Given the description of an element on the screen output the (x, y) to click on. 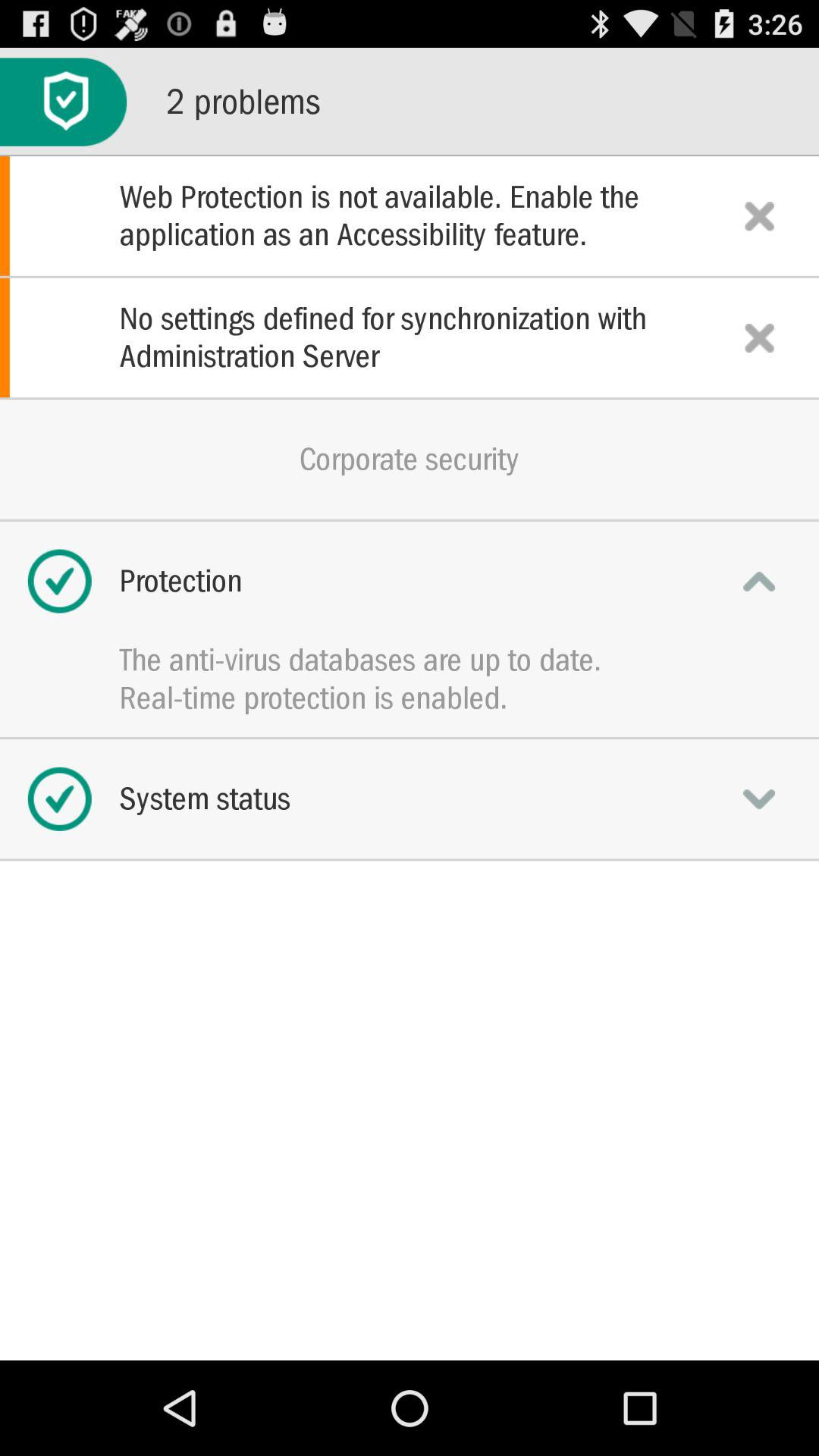
minimize the protection dropdown (759, 580)
